Given the description of an element on the screen output the (x, y) to click on. 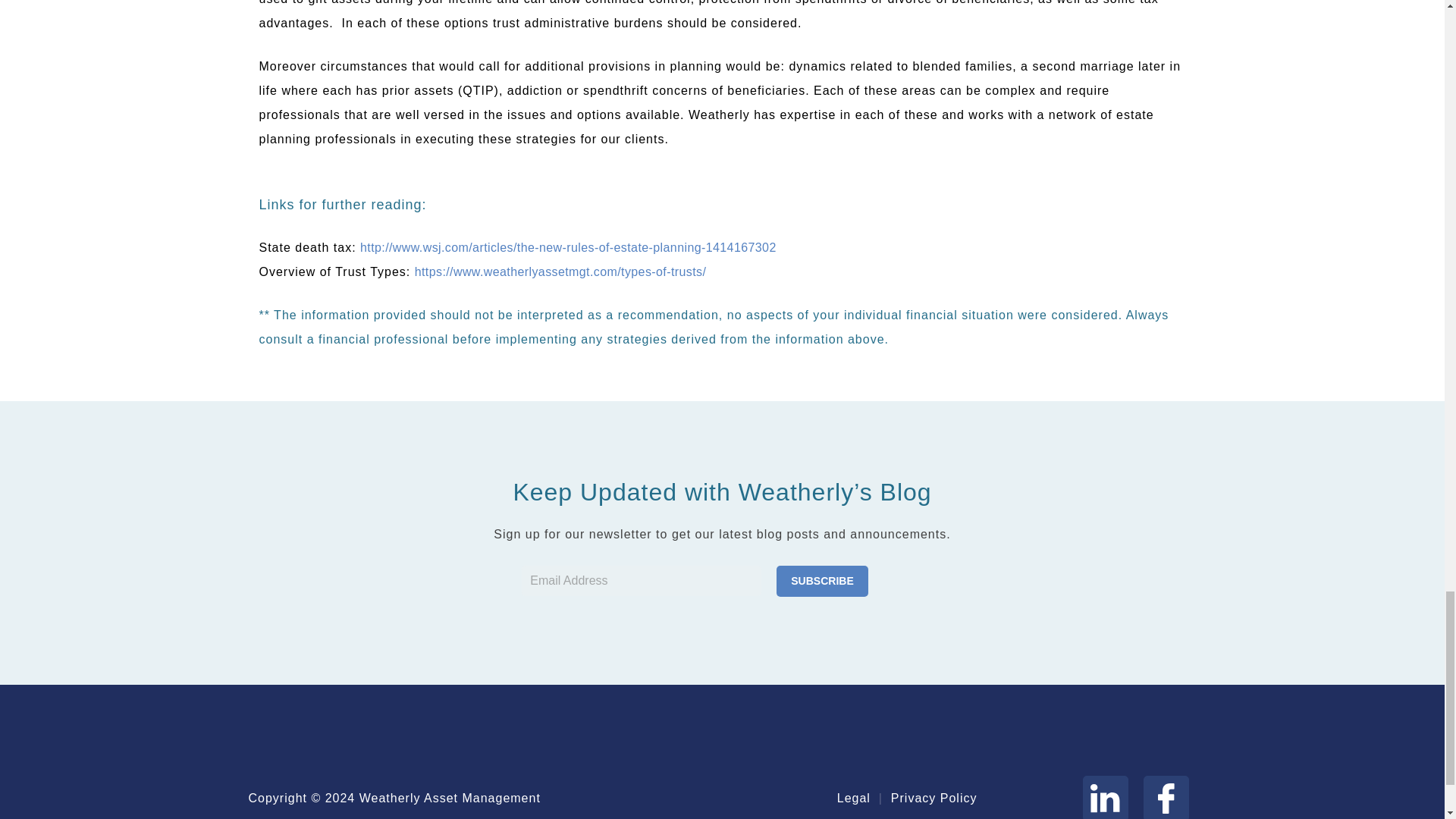
SUBSCRIBE (821, 581)
